Given the description of an element on the screen output the (x, y) to click on. 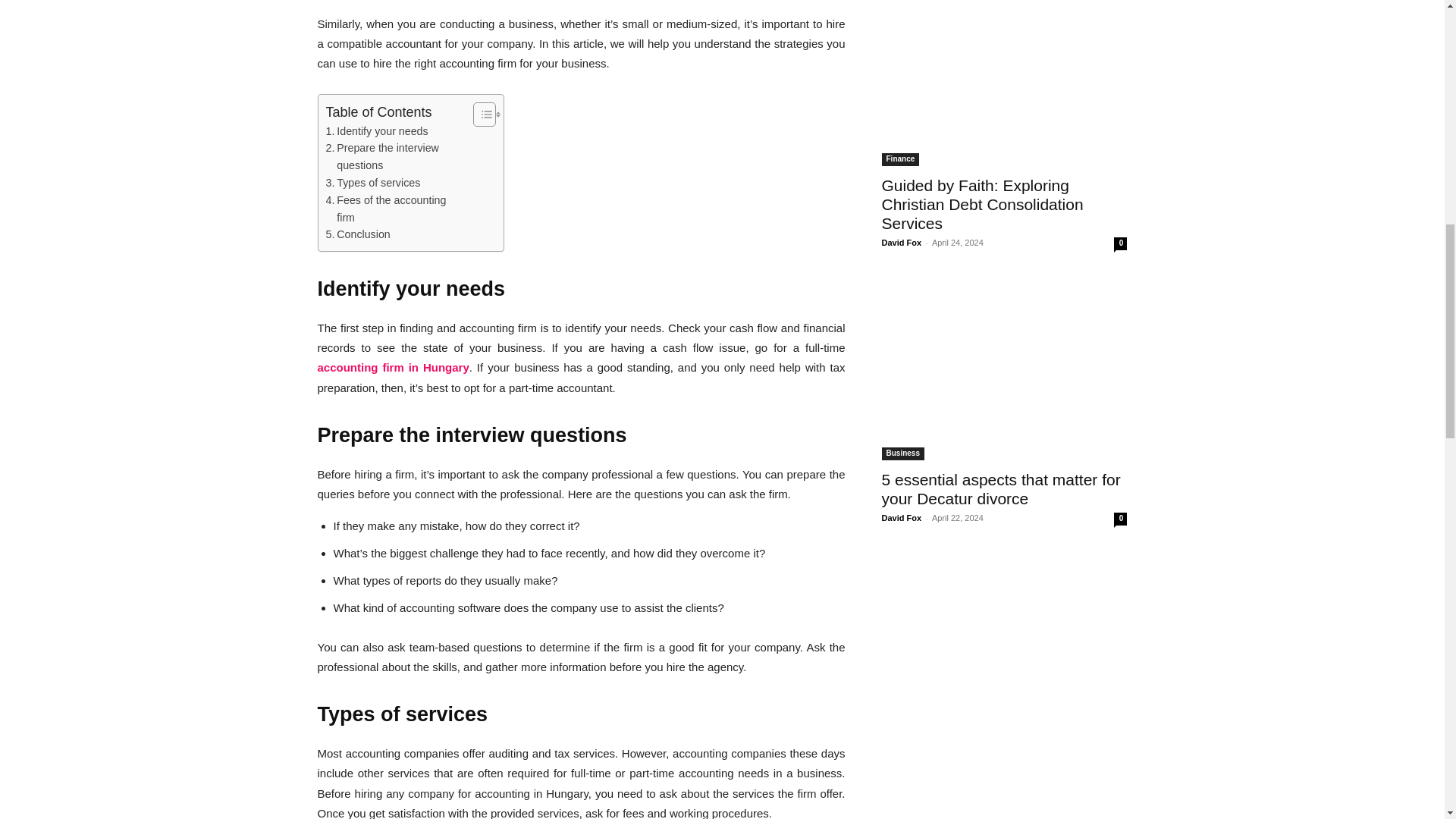
Identify your needs (377, 131)
Prepare the interview questions (395, 156)
Types of services (373, 182)
Fees of the accounting firm (395, 208)
Conclusion (358, 234)
